Given the description of an element on the screen output the (x, y) to click on. 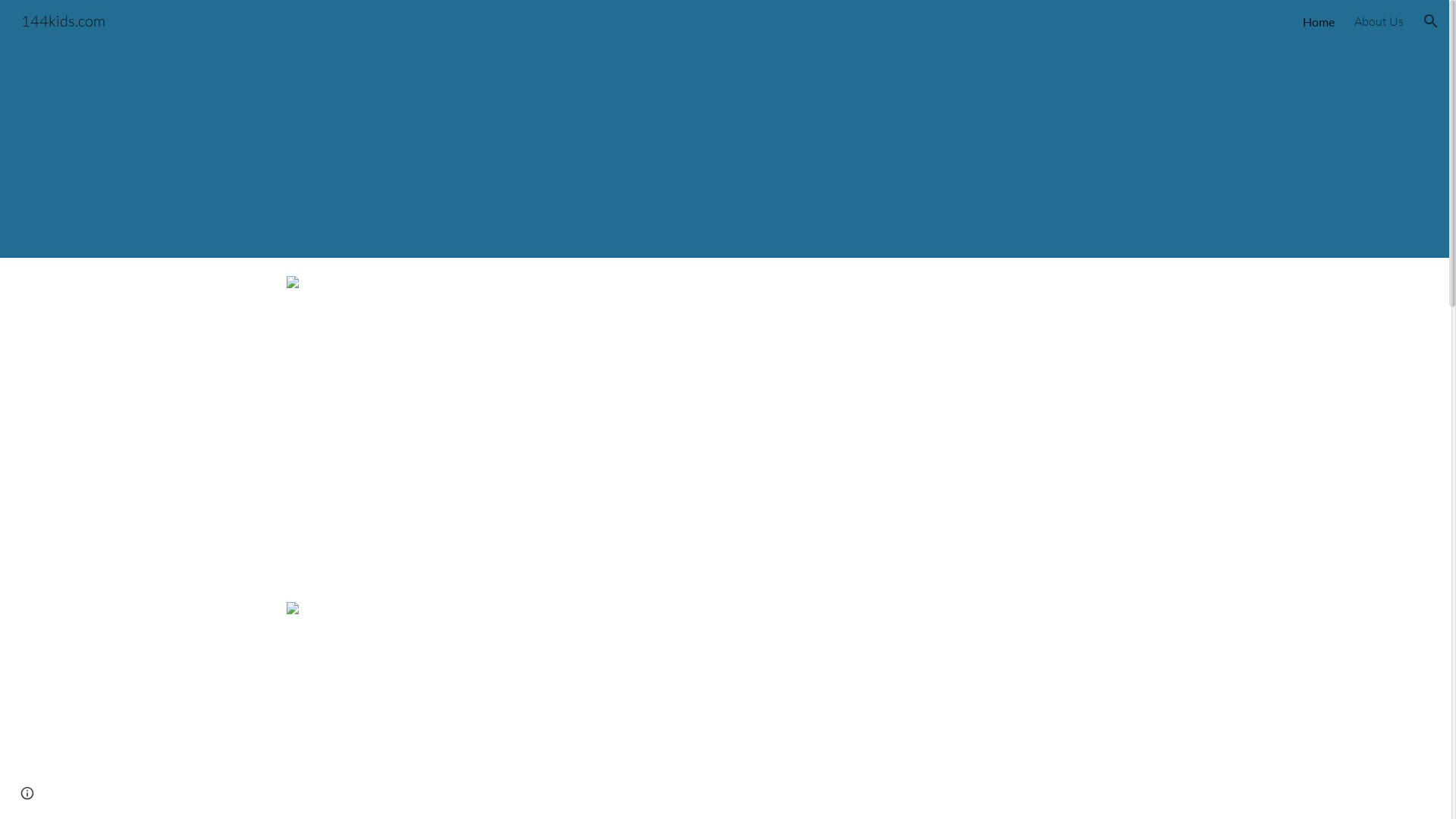
About Us Element type: text (1378, 20)
Home Element type: text (1318, 20)
144kids.com Element type: text (63, 18)
